Given the description of an element on the screen output the (x, y) to click on. 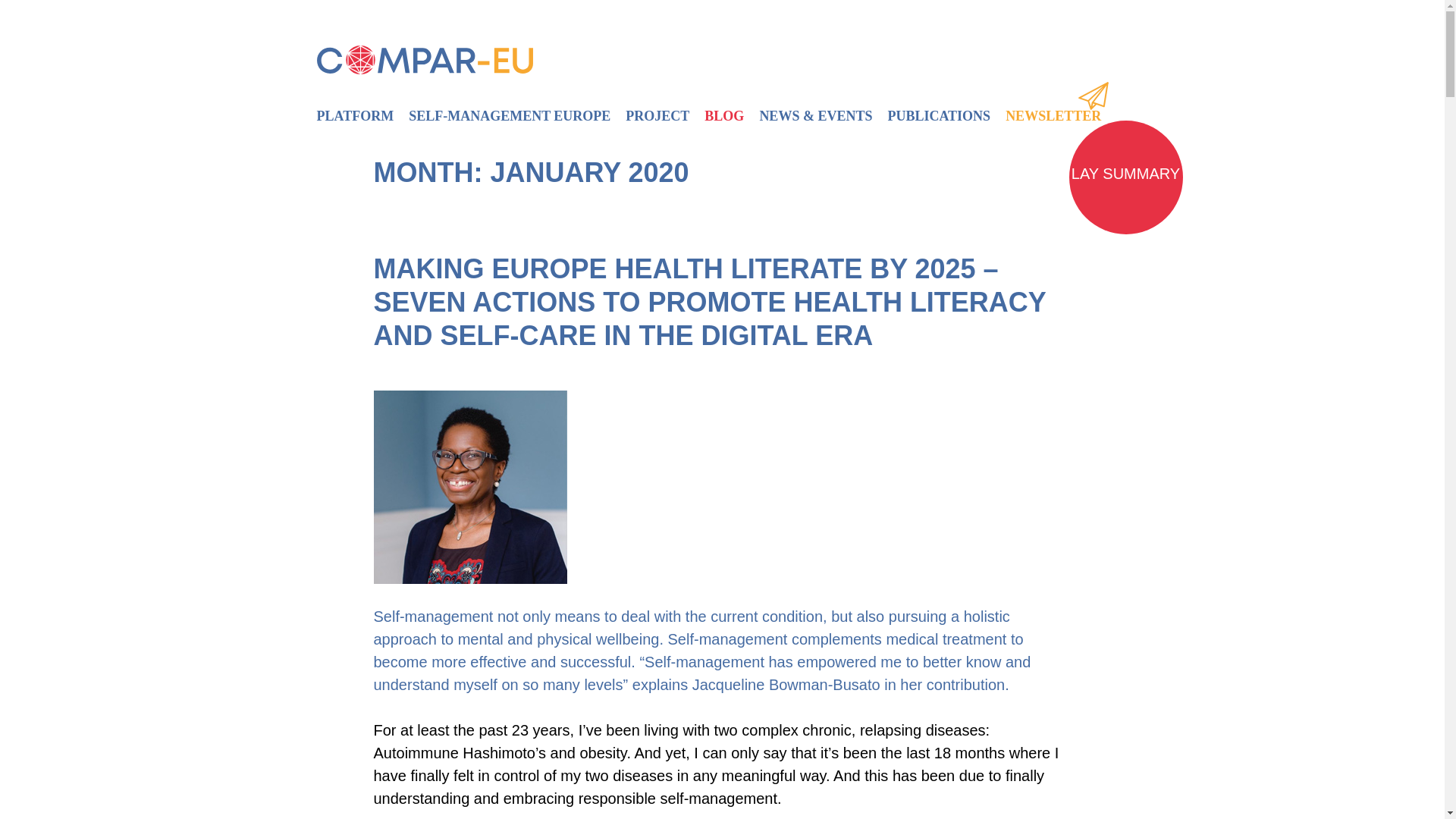
SELF-MANAGEMENT EUROPE (509, 116)
LAY SUMMARY (1125, 173)
NEWSLETTER (1052, 115)
PUBLICATIONS (938, 116)
BLOG (724, 116)
COMPAR-EU (363, 91)
PROJECT (657, 116)
PLATFORM (359, 116)
